Given the description of an element on the screen output the (x, y) to click on. 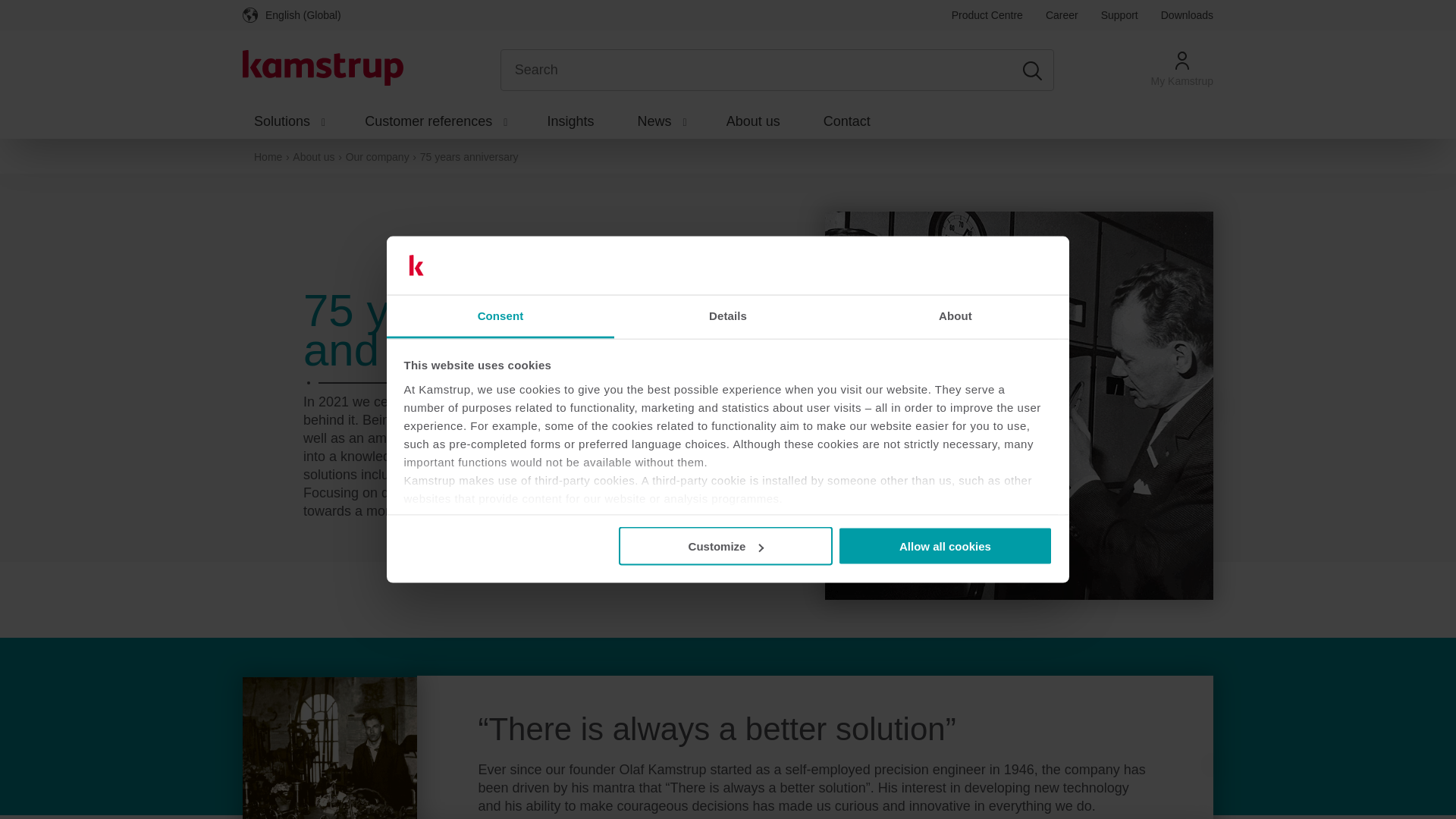
Details (727, 316)
About (954, 316)
here (863, 515)
Consent (500, 316)
